Given the description of an element on the screen output the (x, y) to click on. 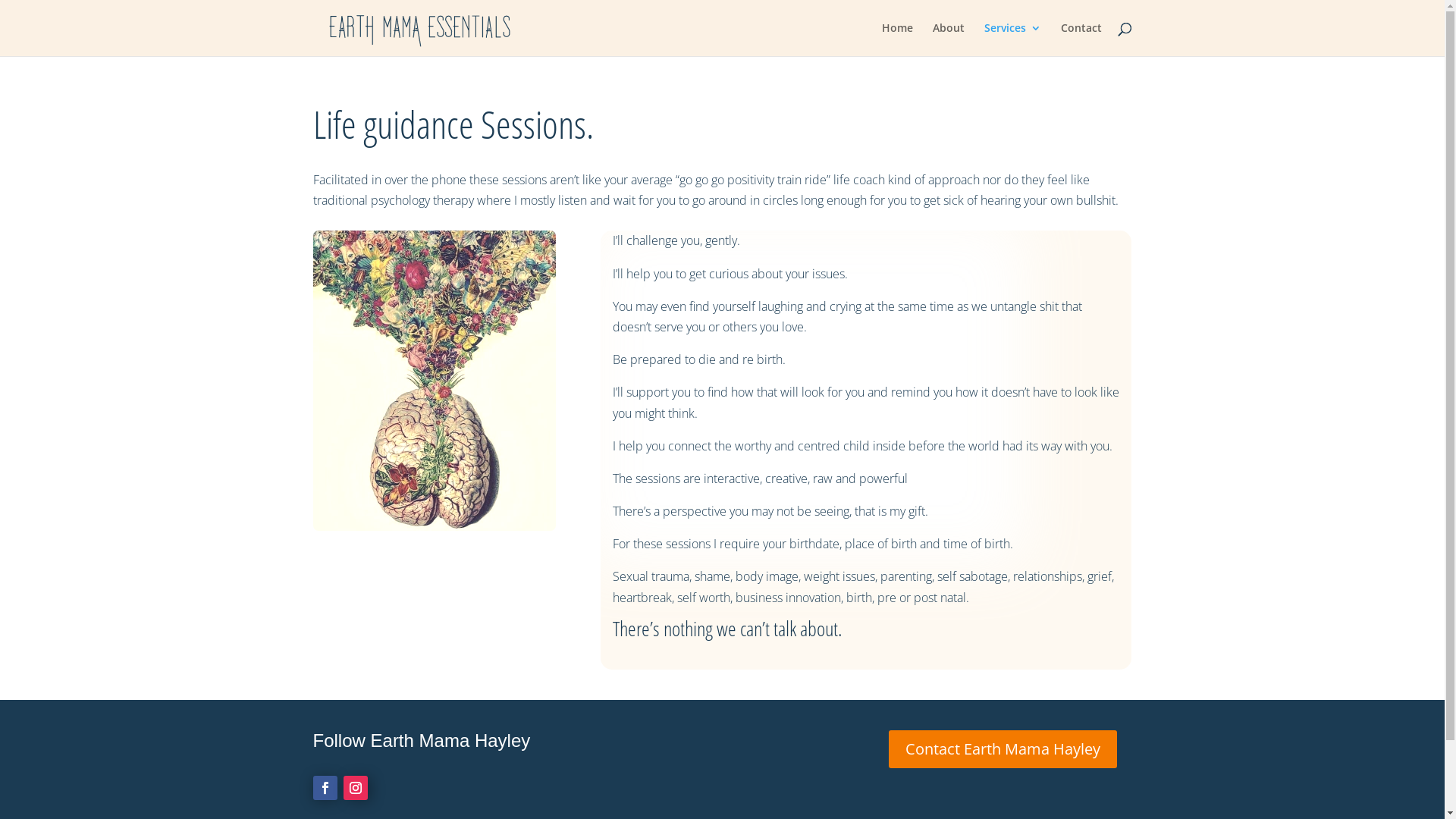
Services Element type: text (1012, 39)
Home Element type: text (896, 39)
Contact Element type: text (1080, 39)
Follow on Instagram Element type: hover (354, 787)
About Element type: text (948, 39)
Follow on Facebook Element type: hover (324, 787)
Contact Earth Mama Hayley Element type: text (1002, 749)
